Given the description of an element on the screen output the (x, y) to click on. 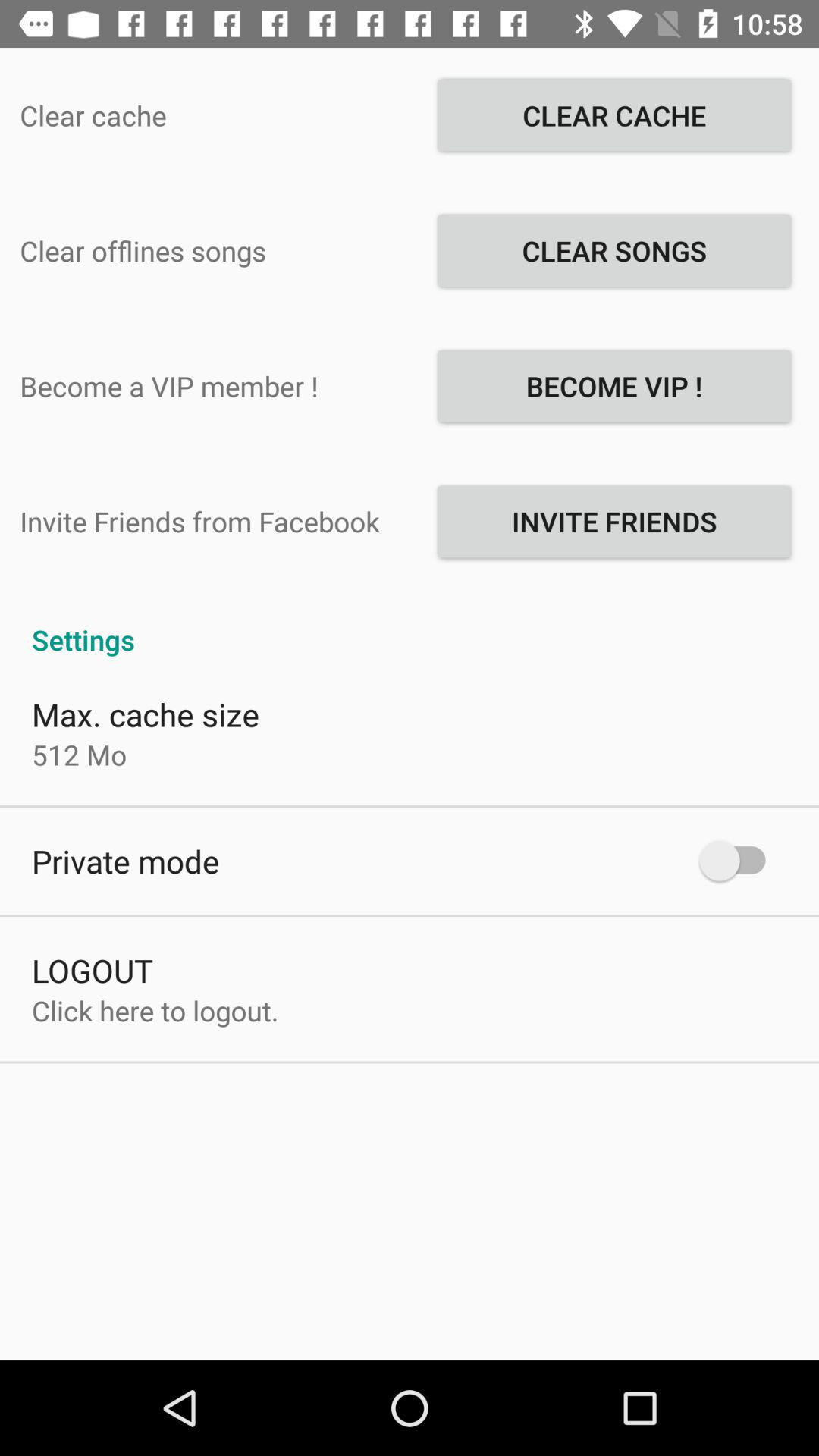
flip until click here to (154, 1010)
